Given the description of an element on the screen output the (x, y) to click on. 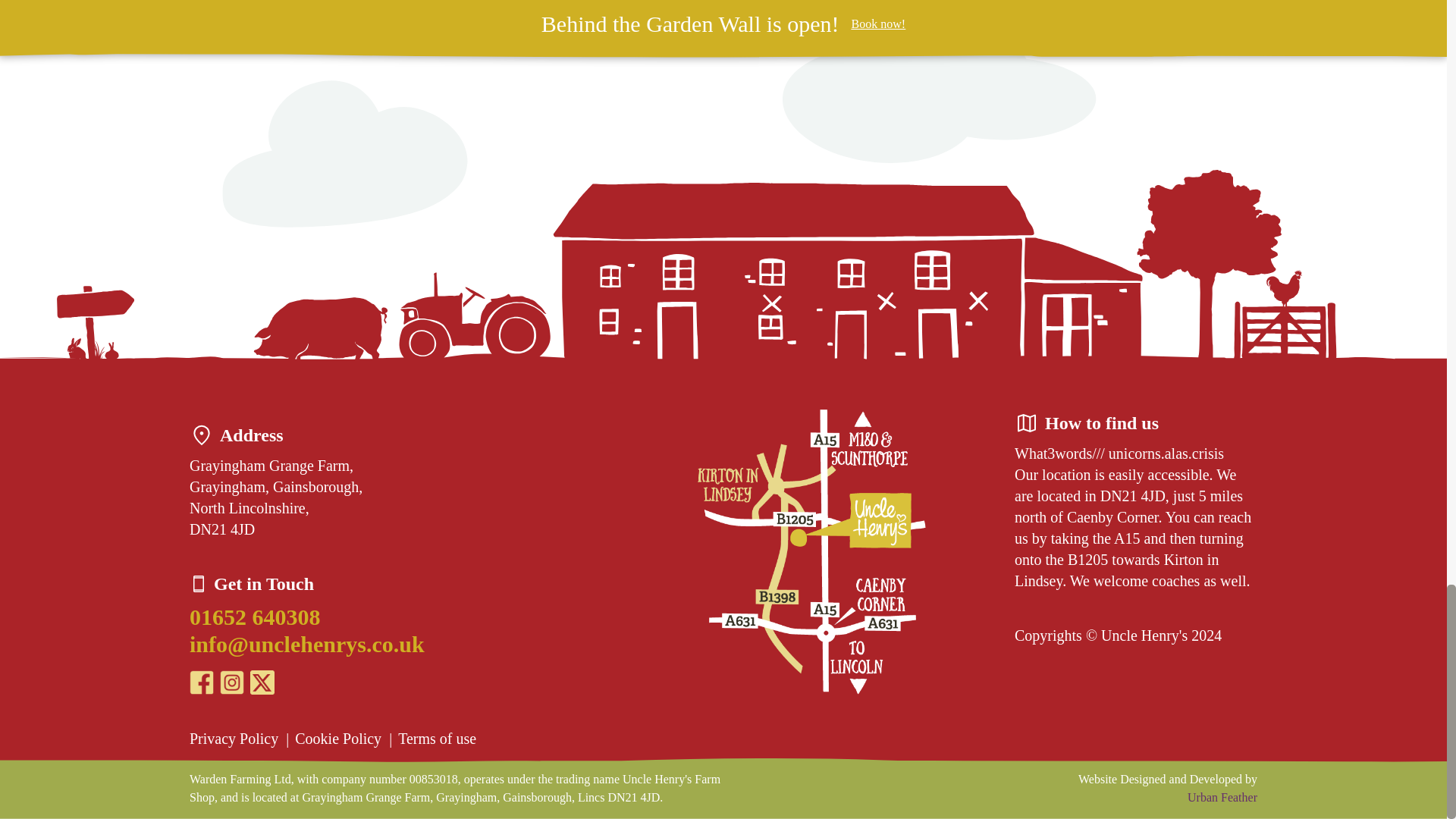
Follow us on Instagram (231, 682)
Follow us on Facebook (201, 682)
Follow us on Twitter (262, 682)
